Given the description of an element on the screen output the (x, y) to click on. 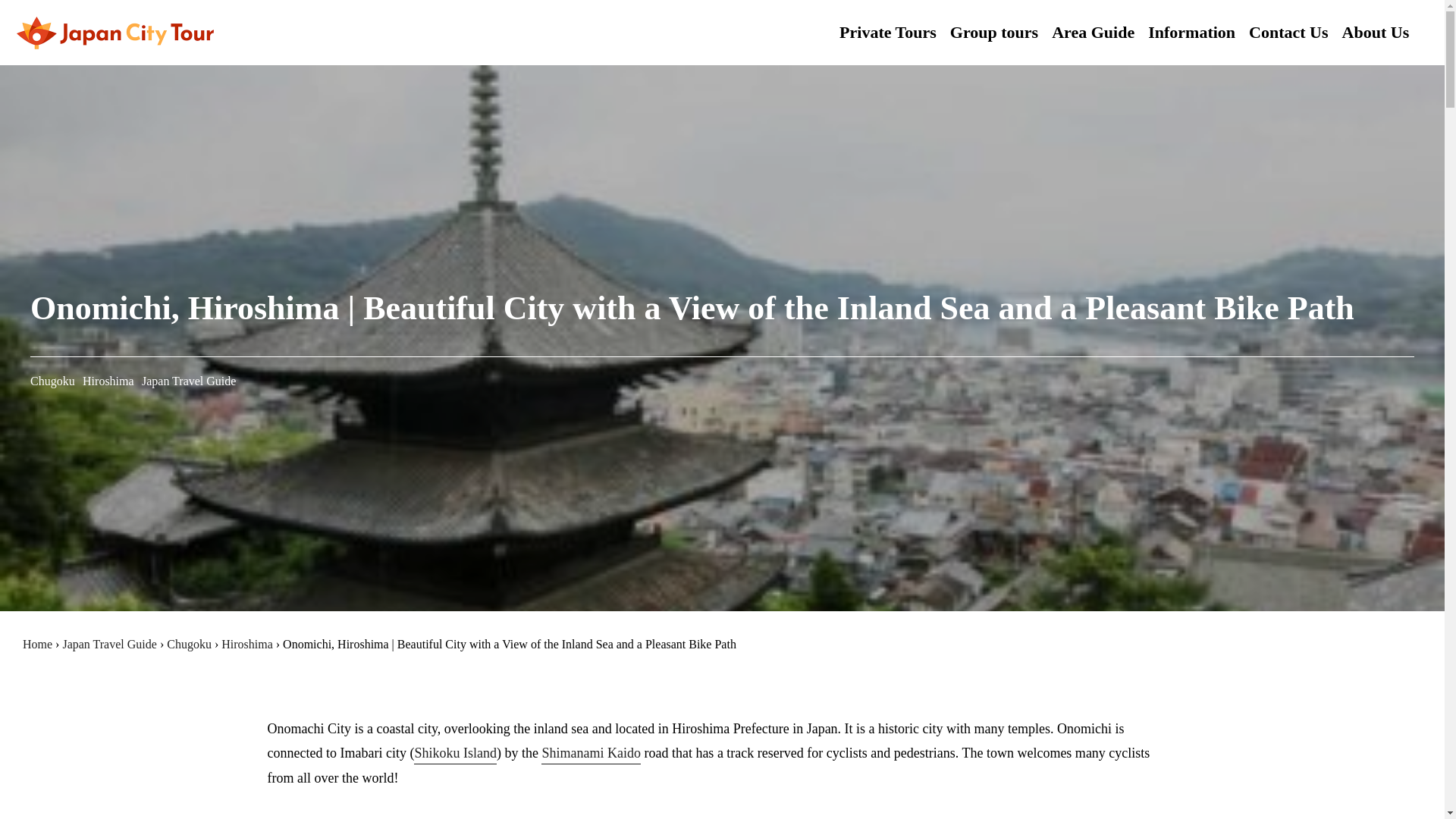
Chugoku (189, 644)
Chugoku (189, 644)
Chugoku (52, 380)
Home (37, 644)
Group tours (994, 32)
Japan Travel Guide (188, 380)
Shikoku Island (454, 754)
Hiroshima (247, 644)
Home (37, 644)
Japan Travel Guide (108, 644)
Contact Us (1288, 32)
Area Guide (1092, 32)
About Us (1375, 32)
Shimanami Kaido (590, 754)
Hiroshima (107, 380)
